Given the description of an element on the screen output the (x, y) to click on. 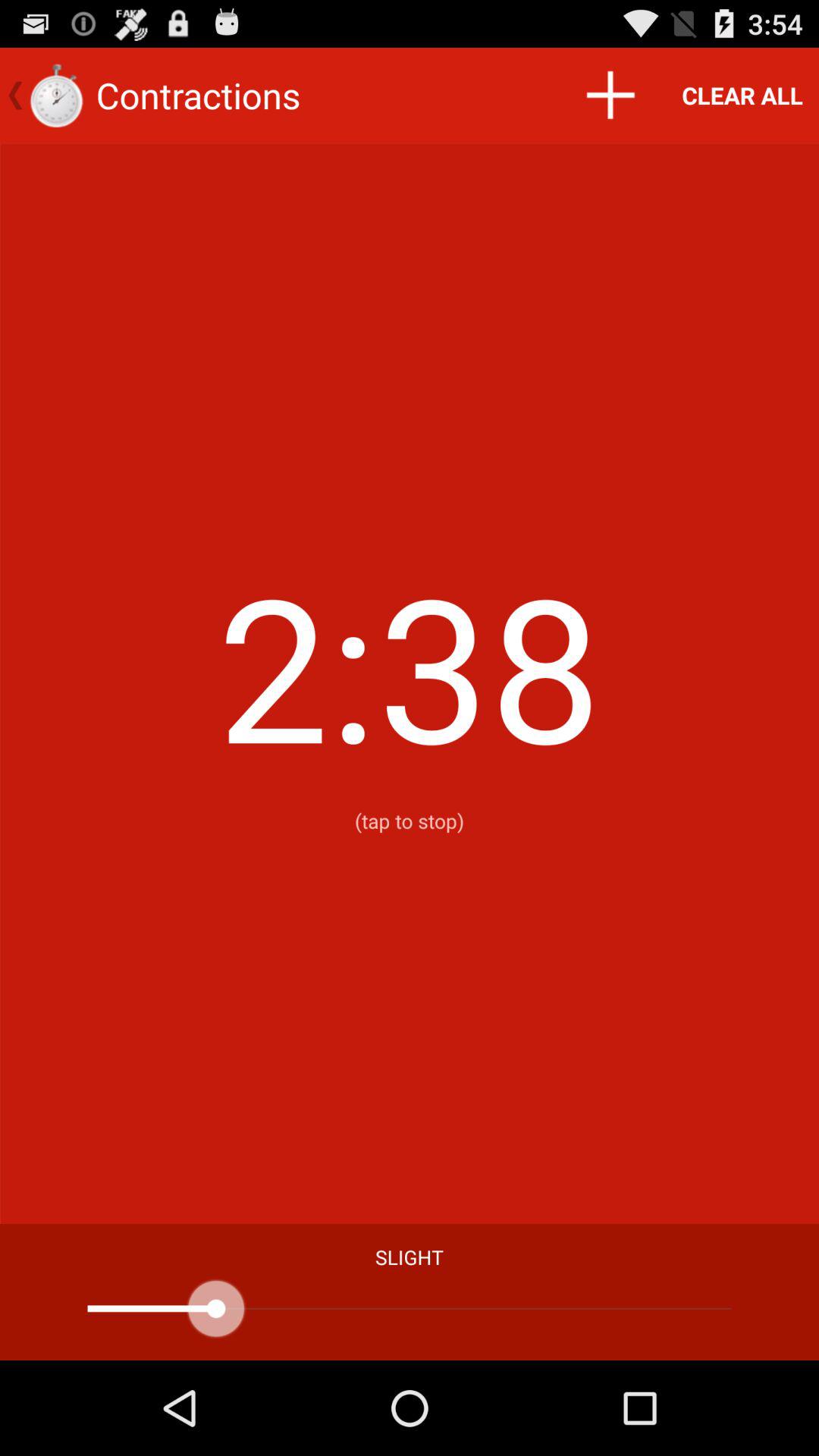
select the icon next to the clear all item (610, 95)
